Given the description of an element on the screen output the (x, y) to click on. 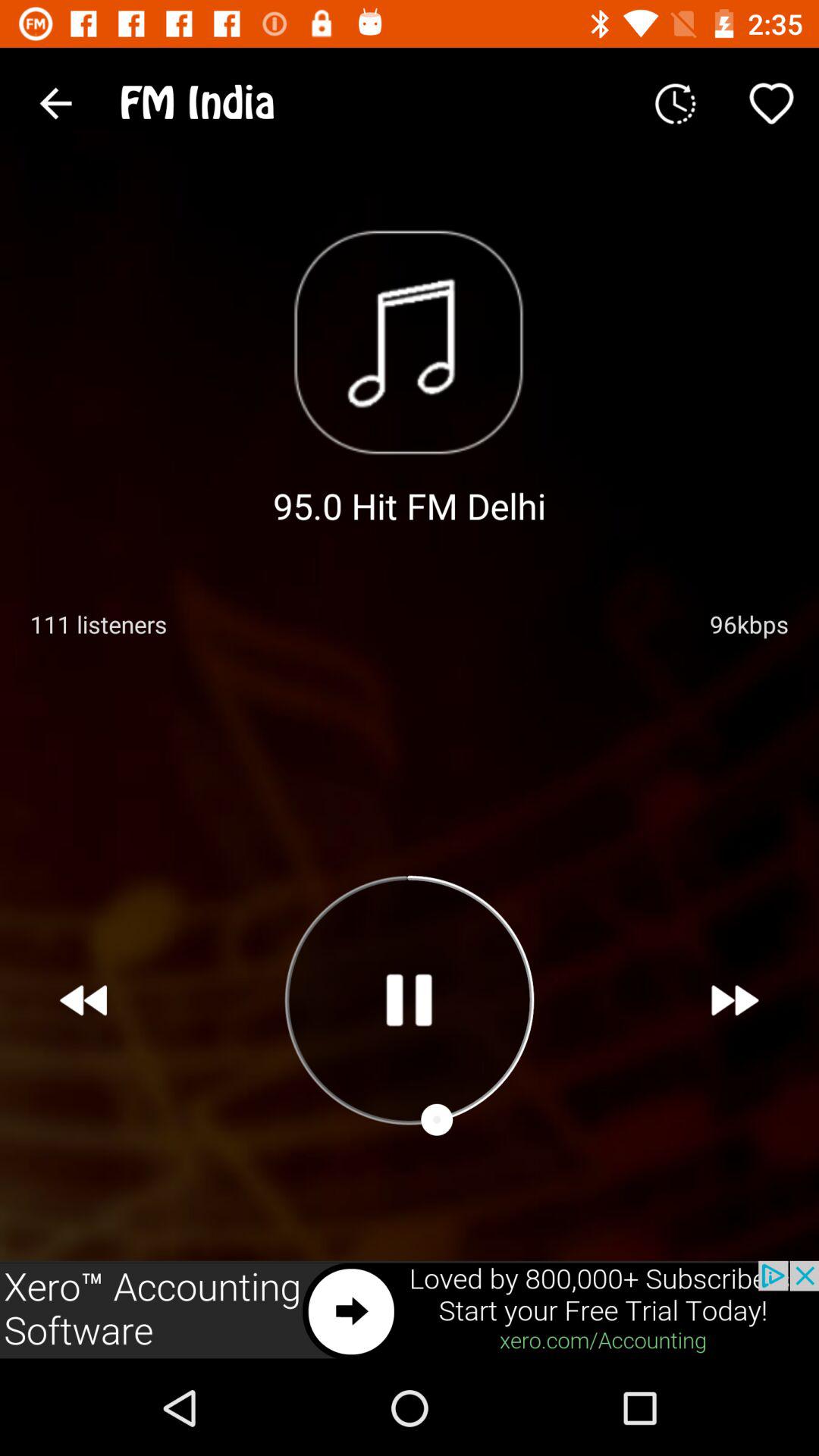
previous (83, 1000)
